Given the description of an element on the screen output the (x, y) to click on. 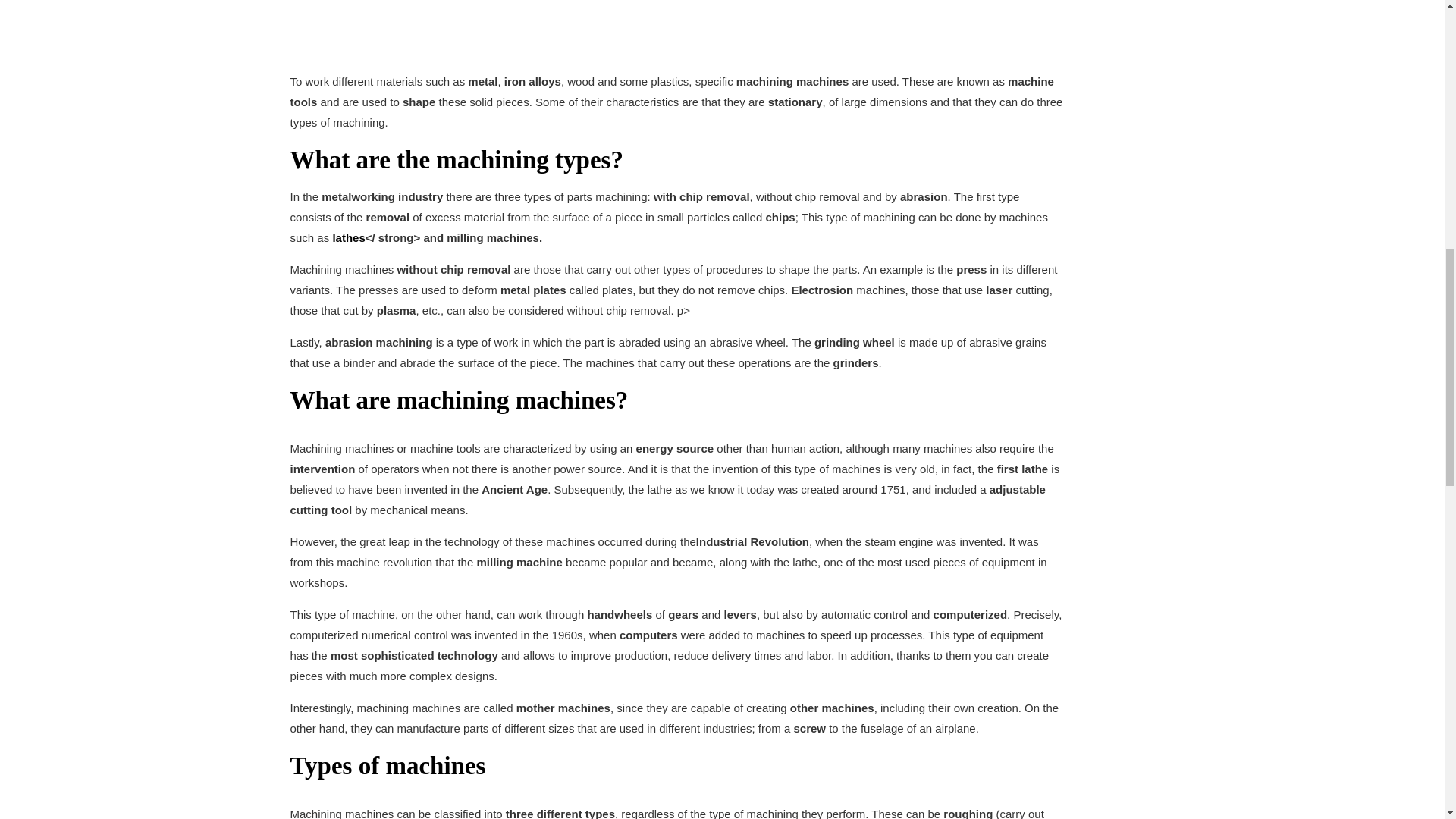
lathes (348, 237)
